Given the description of an element on the screen output the (x, y) to click on. 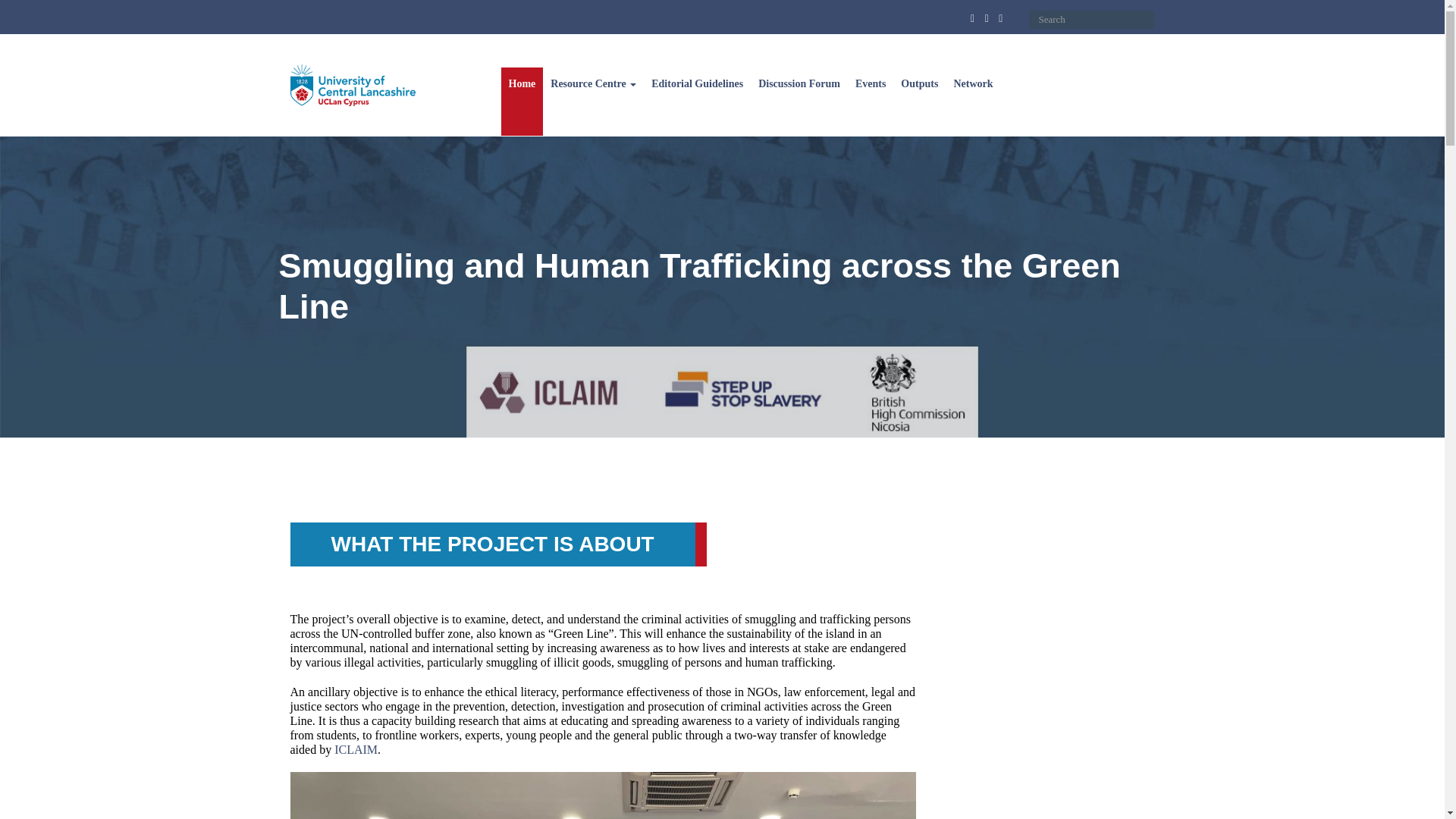
Discussion Forum (799, 101)
ICLAIM (355, 748)
Editorial Guidelines (697, 101)
Resource Centre (593, 101)
